Given the description of an element on the screen output the (x, y) to click on. 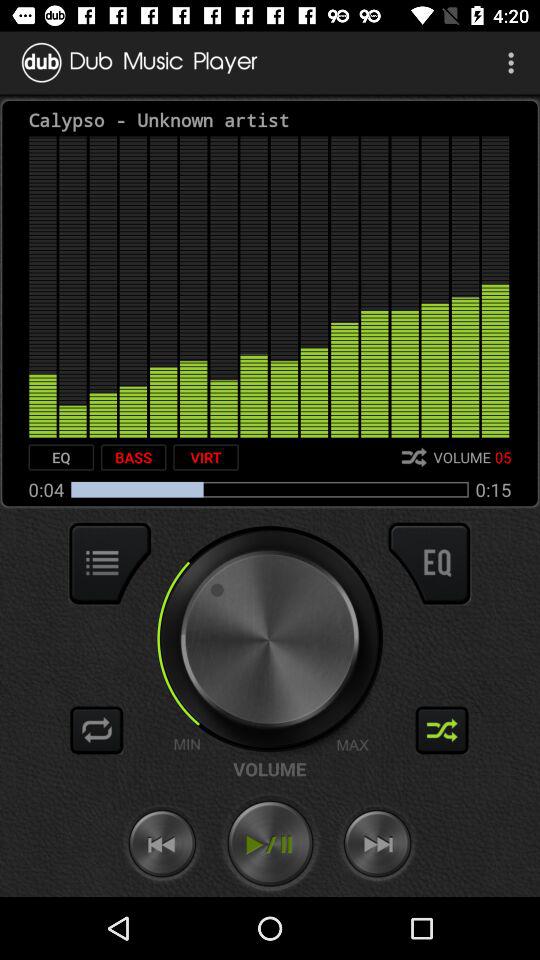
press icon to the right of the   eq (133, 457)
